Given the description of an element on the screen output the (x, y) to click on. 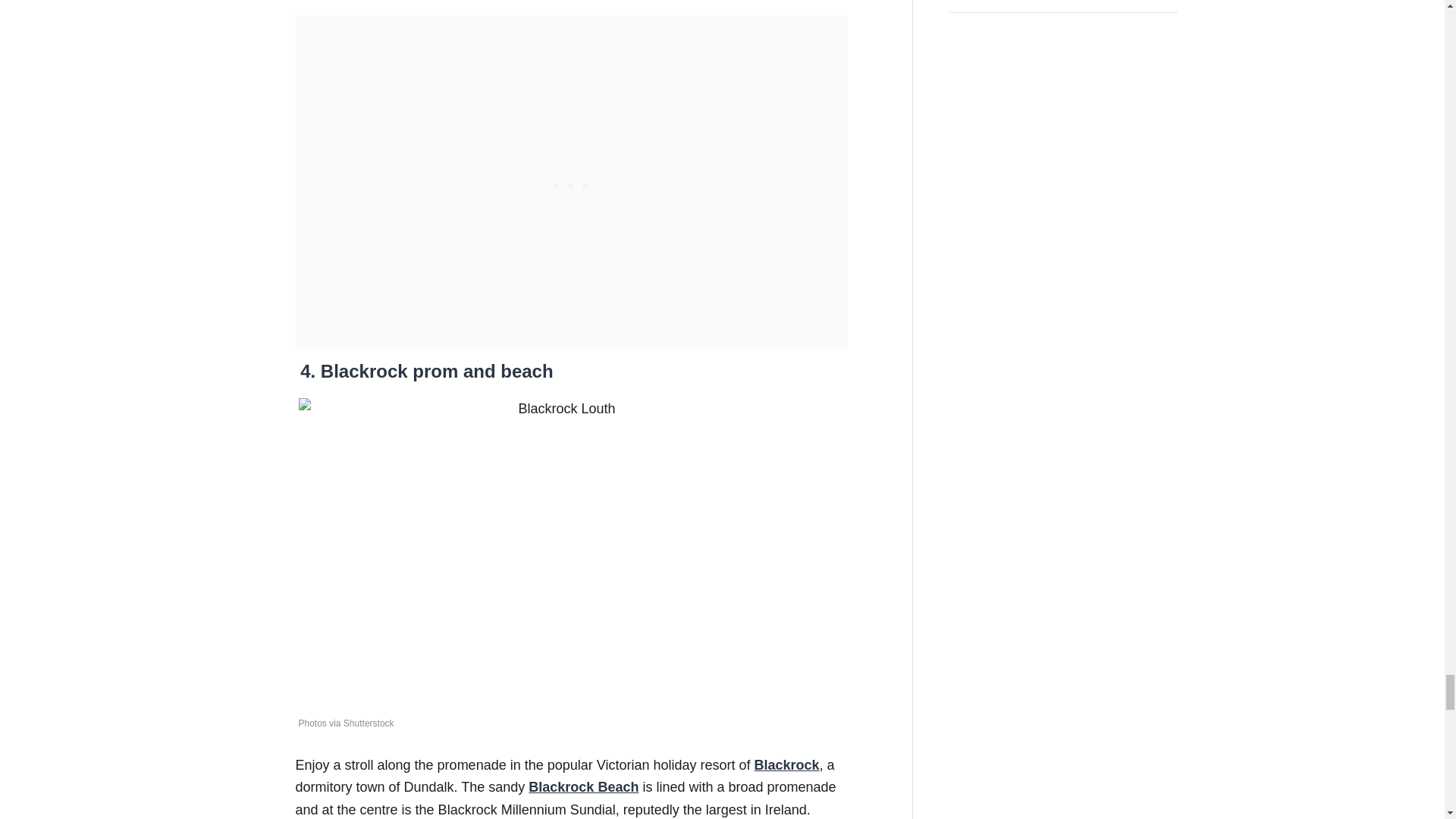
Blackrock (786, 765)
Blackrock Beach (583, 786)
